Given the description of an element on the screen output the (x, y) to click on. 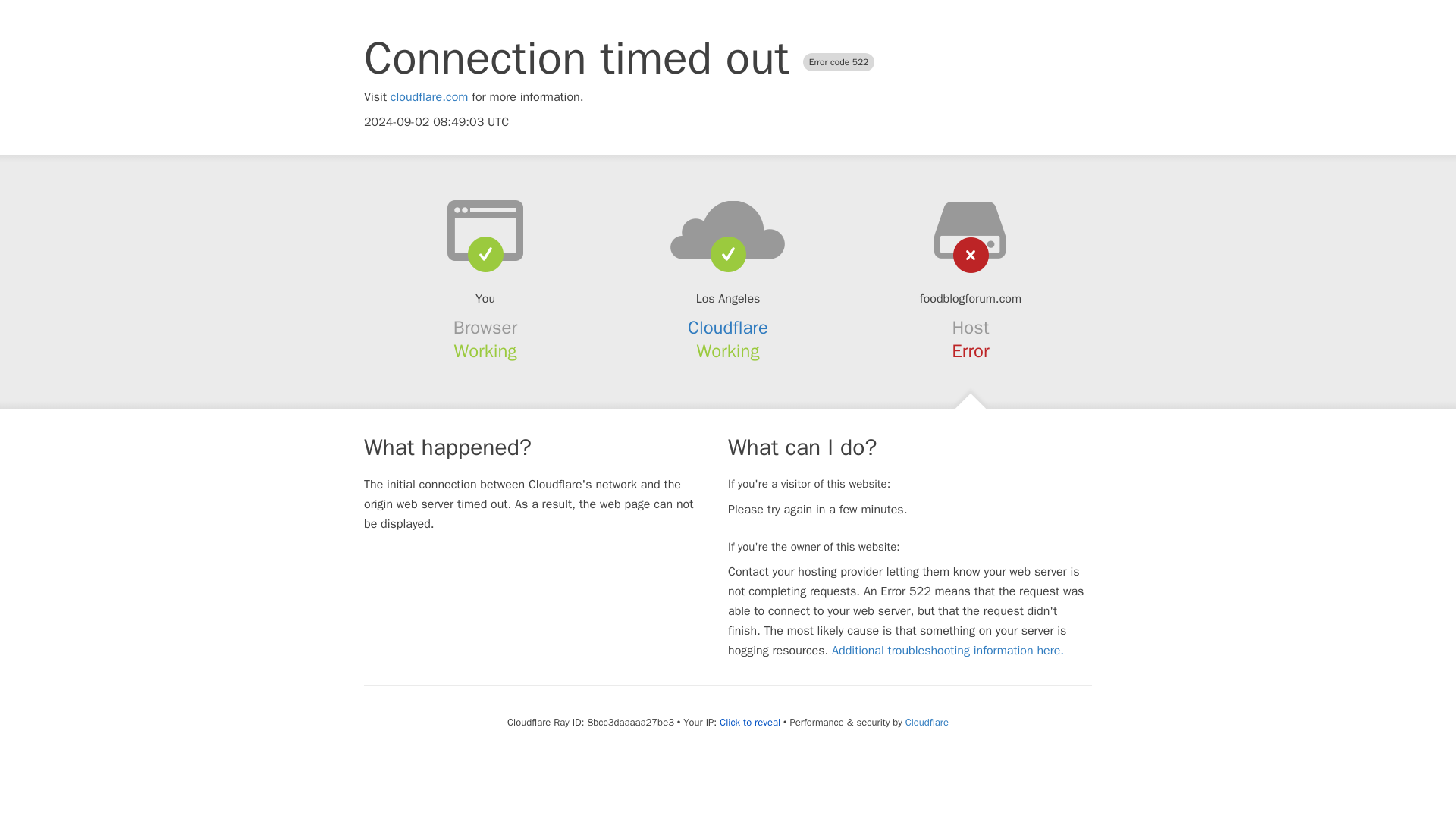
Additional troubleshooting information here. (947, 650)
Click to reveal (749, 722)
Cloudflare (927, 721)
cloudflare.com (429, 96)
Cloudflare (727, 327)
